Given the description of an element on the screen output the (x, y) to click on. 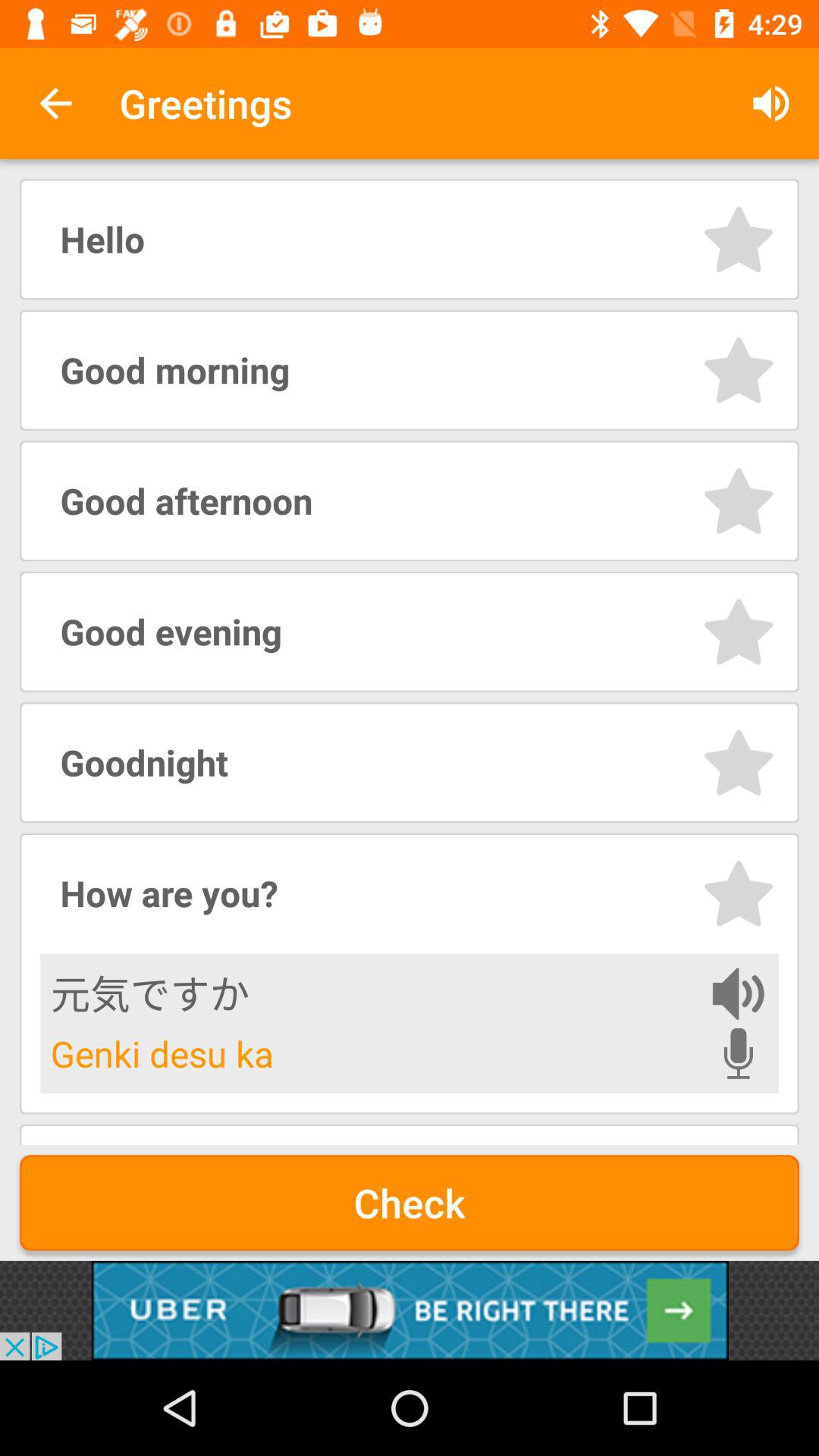
use microphone (738, 1053)
